Given the description of an element on the screen output the (x, y) to click on. 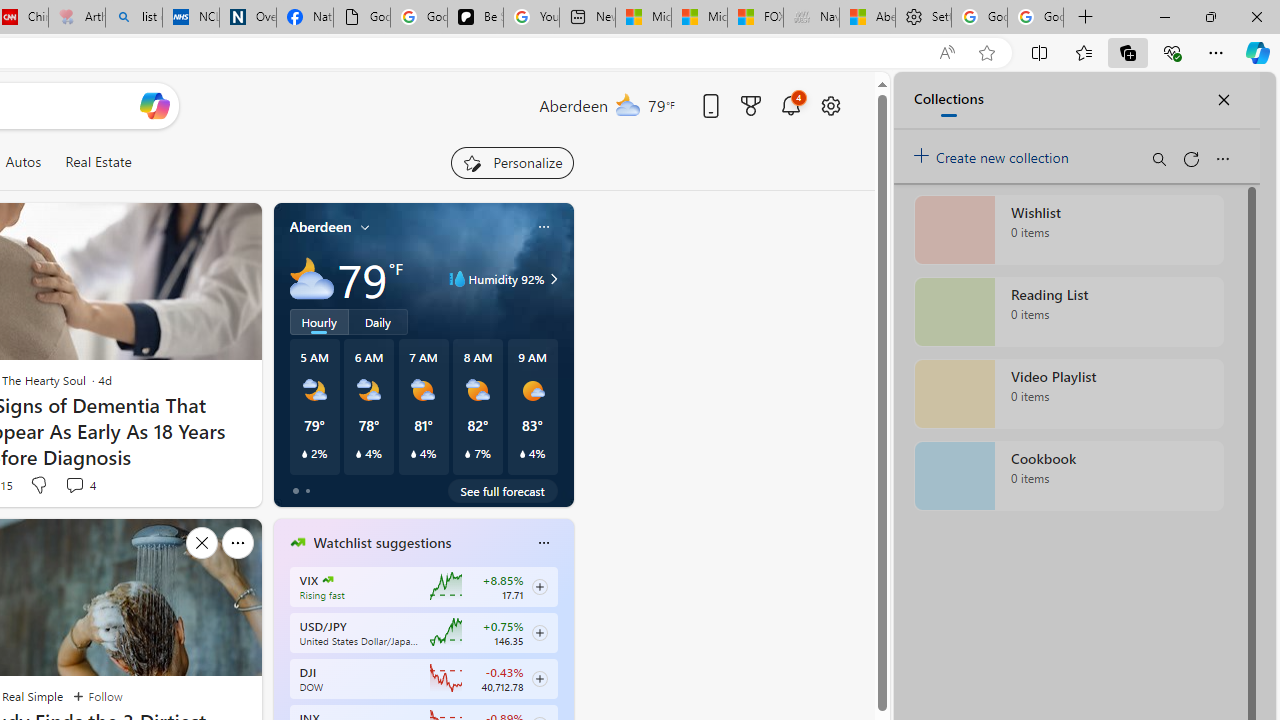
Google Analytics Opt-out Browser Add-on Download Page (362, 17)
View comments 4 Comment (79, 484)
Follow (97, 696)
Class: follow-button  m (539, 678)
FOX News - MSN (755, 17)
Arthritis: Ask Health Professionals - Sleeping (76, 17)
Mostly cloudy (311, 278)
